Given the description of an element on the screen output the (x, y) to click on. 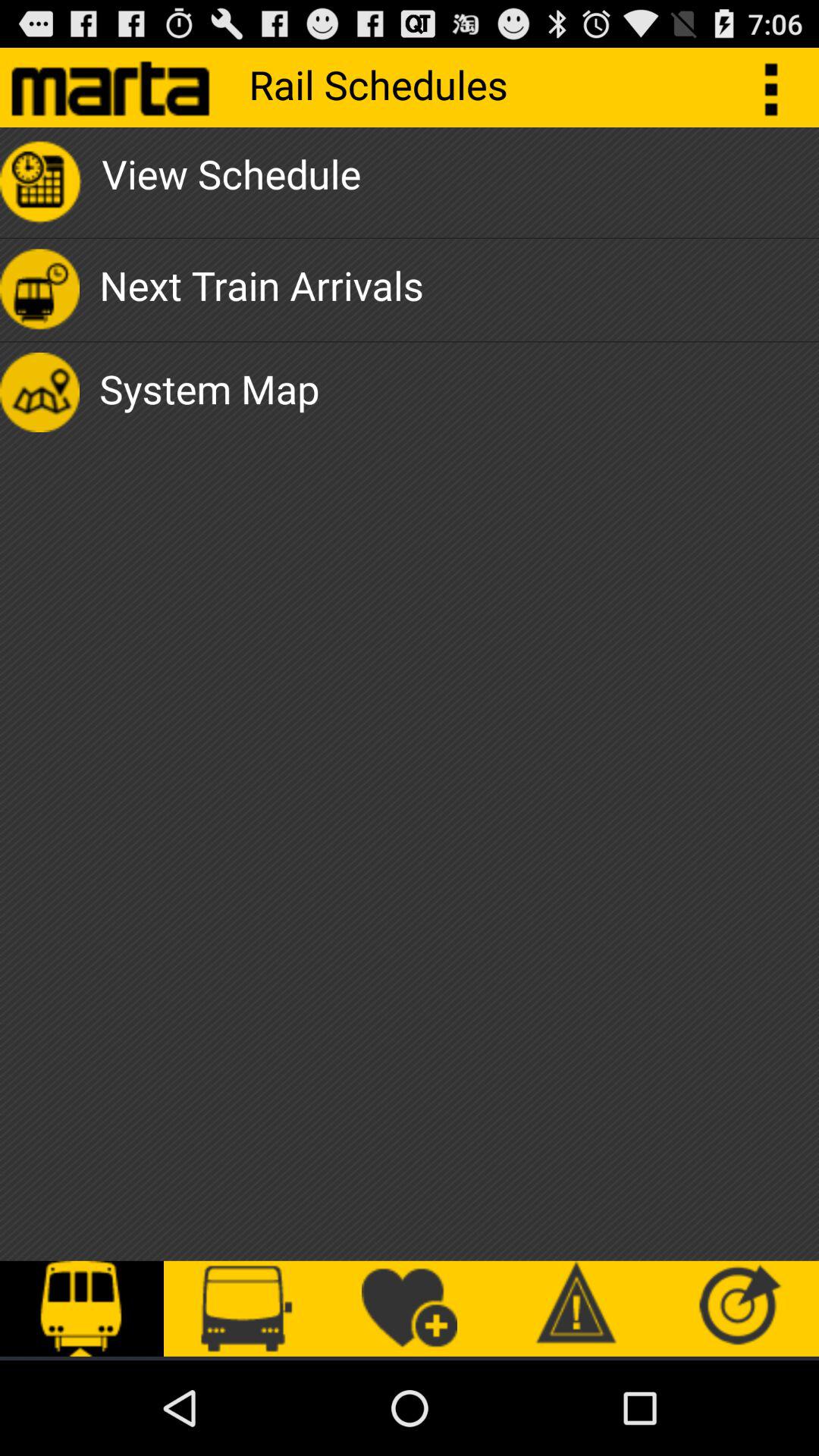
select system map (209, 392)
